Given the description of an element on the screen output the (x, y) to click on. 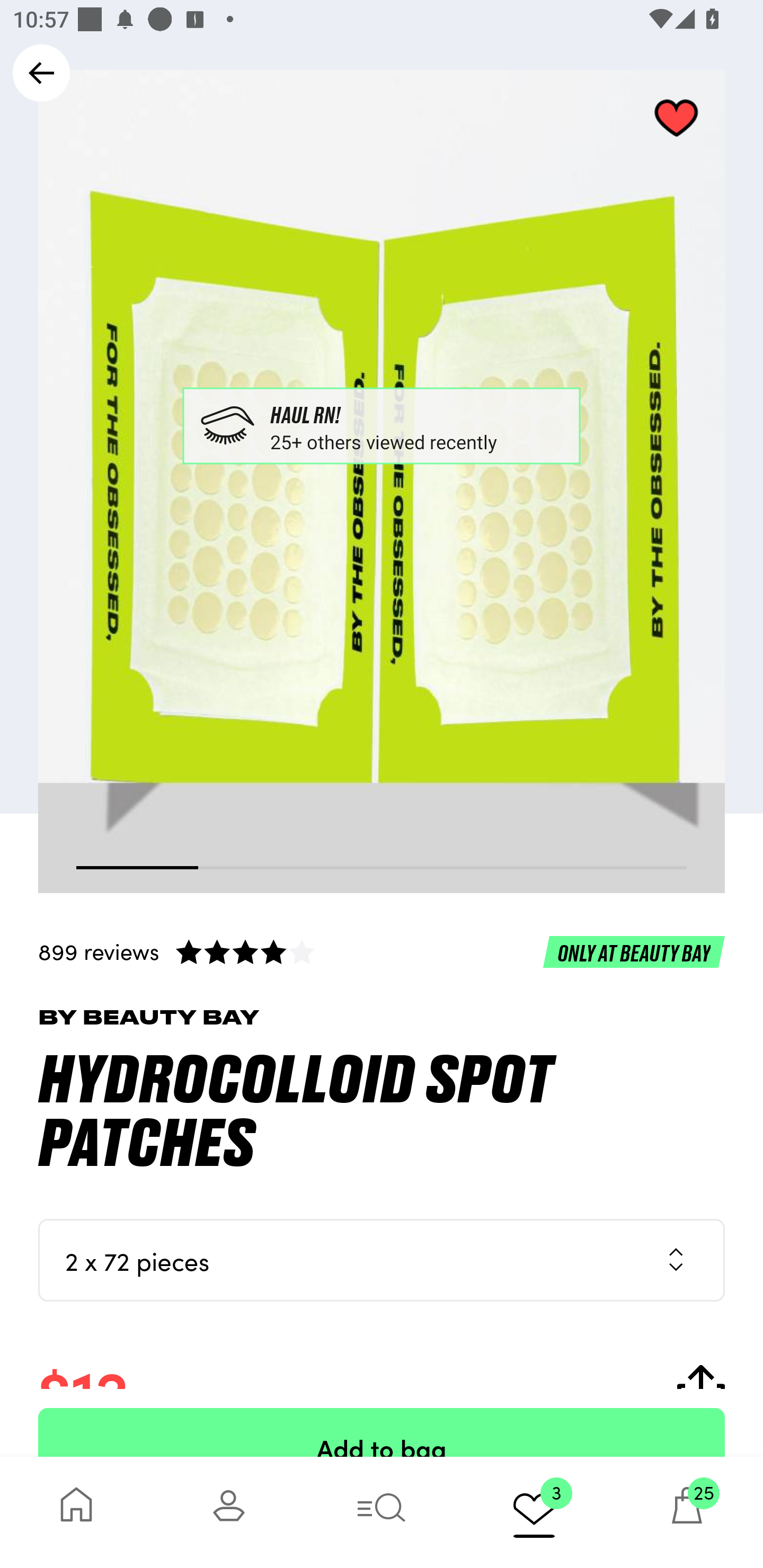
899 reviews (381, 950)
2 x 72 pieces  (381, 1259)
3 (533, 1512)
25 (686, 1512)
